Given the description of an element on the screen output the (x, y) to click on. 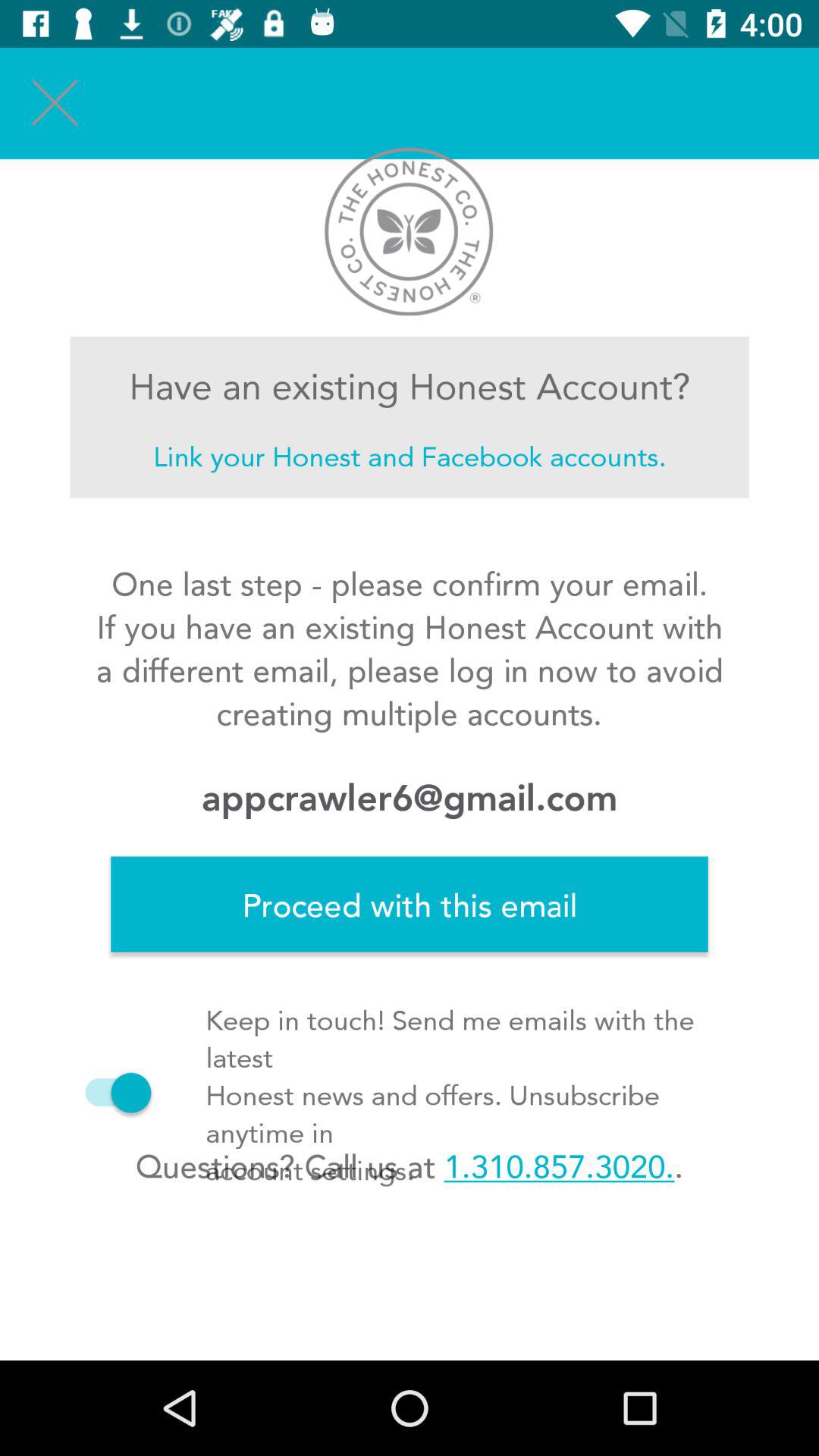
turn on questions call us item (409, 1165)
